Given the description of an element on the screen output the (x, y) to click on. 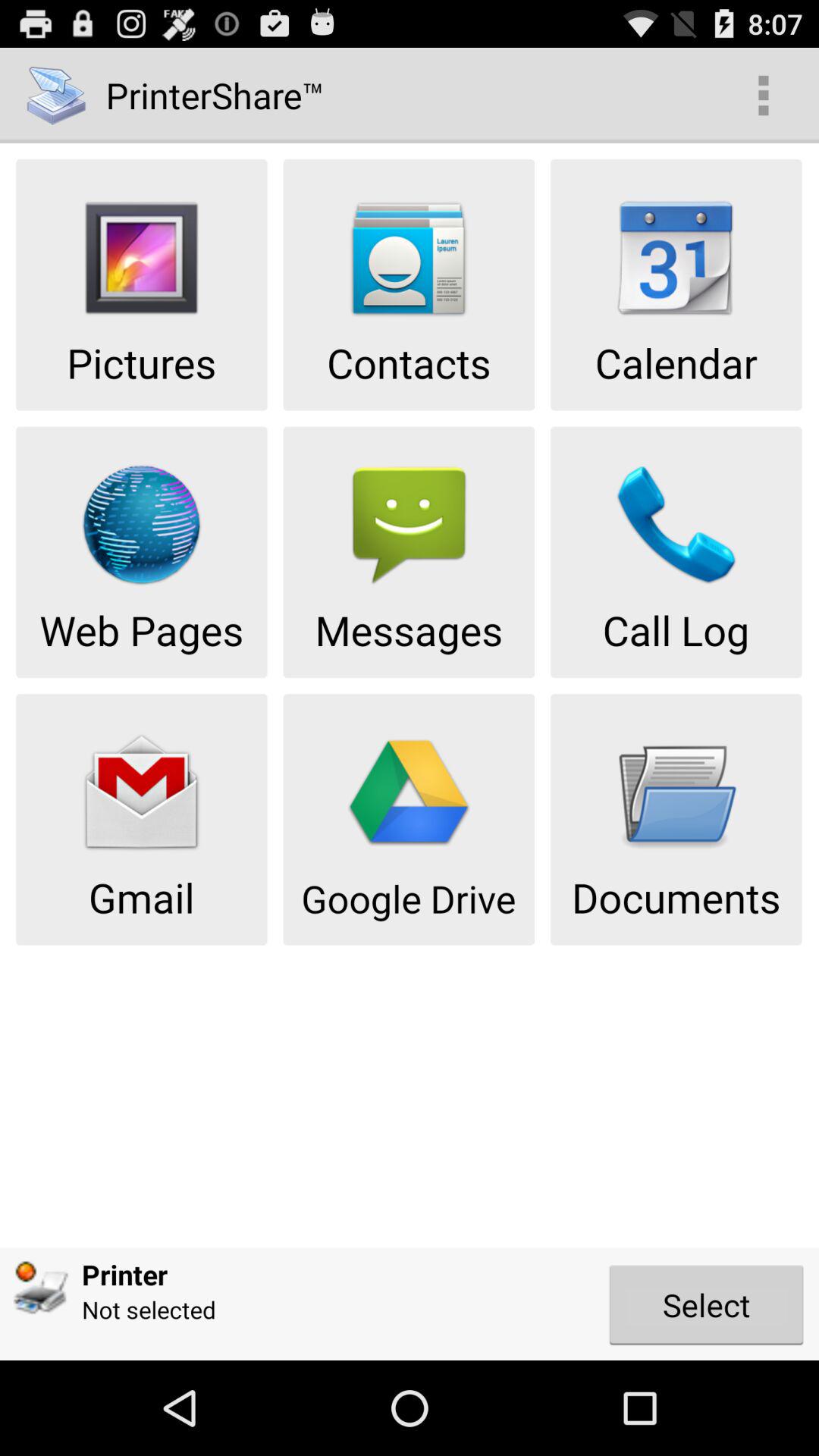
click the contacts button on the web page (408, 284)
